Given the description of an element on the screen output the (x, y) to click on. 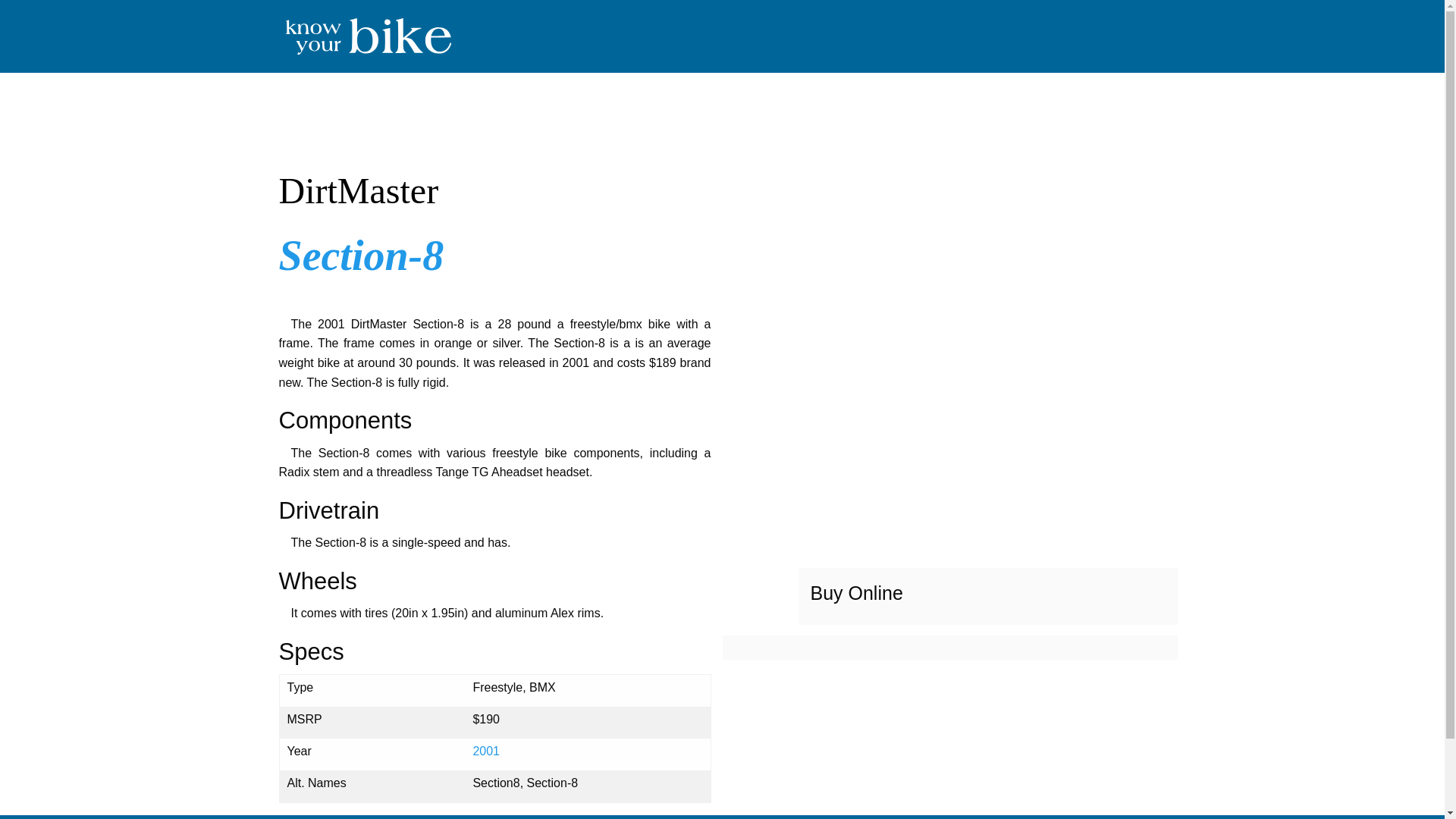
2001 (485, 750)
DirtMaster (495, 190)
Section-8 (361, 255)
